Given the description of an element on the screen output the (x, y) to click on. 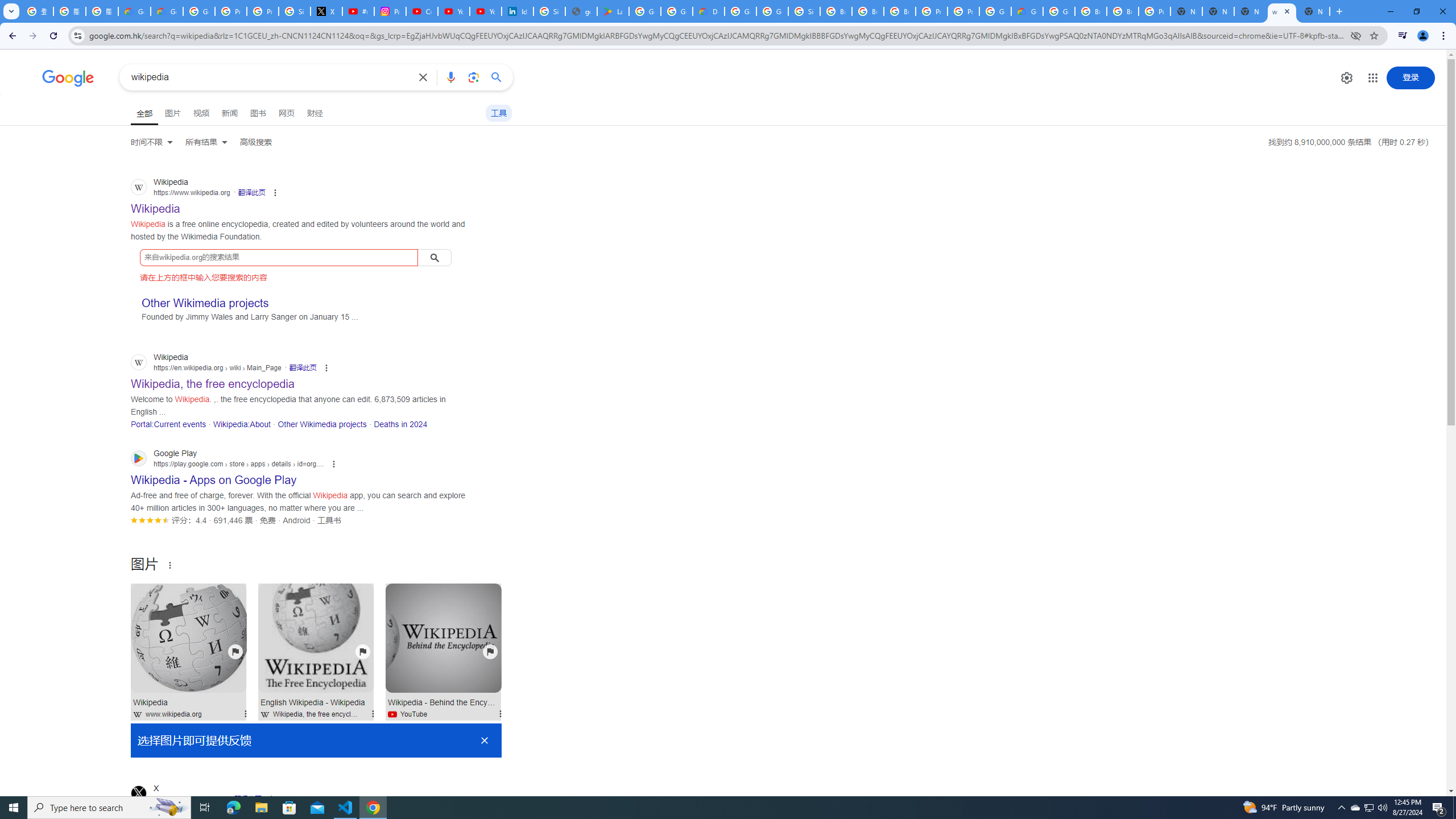
Google Cloud Platform (995, 11)
Browse Chrome as a guest - Computer - Google Chrome Help (868, 11)
